Given the description of an element on the screen output the (x, y) to click on. 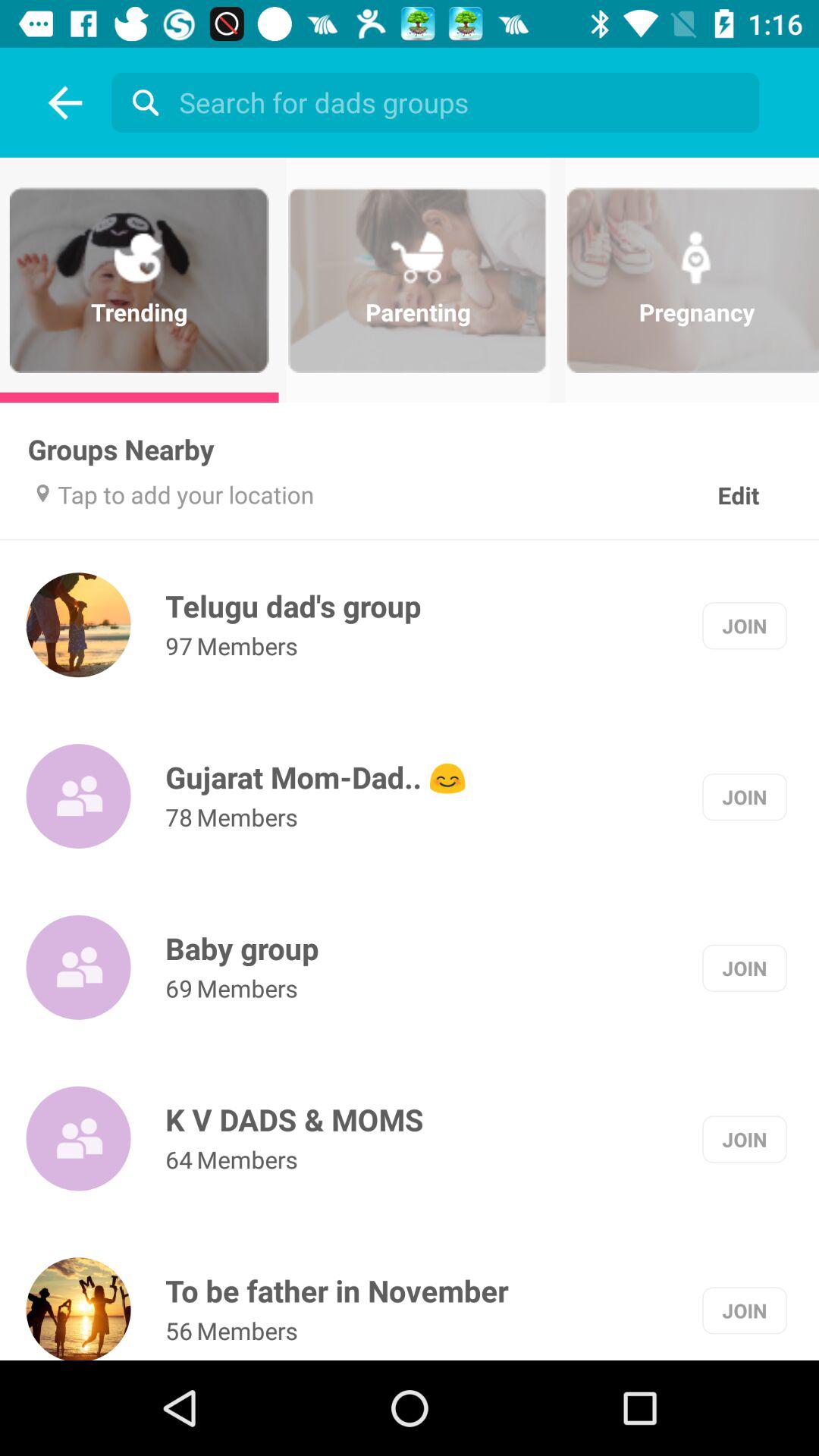
choose the icon below the to be father (178, 1330)
